Given the description of an element on the screen output the (x, y) to click on. 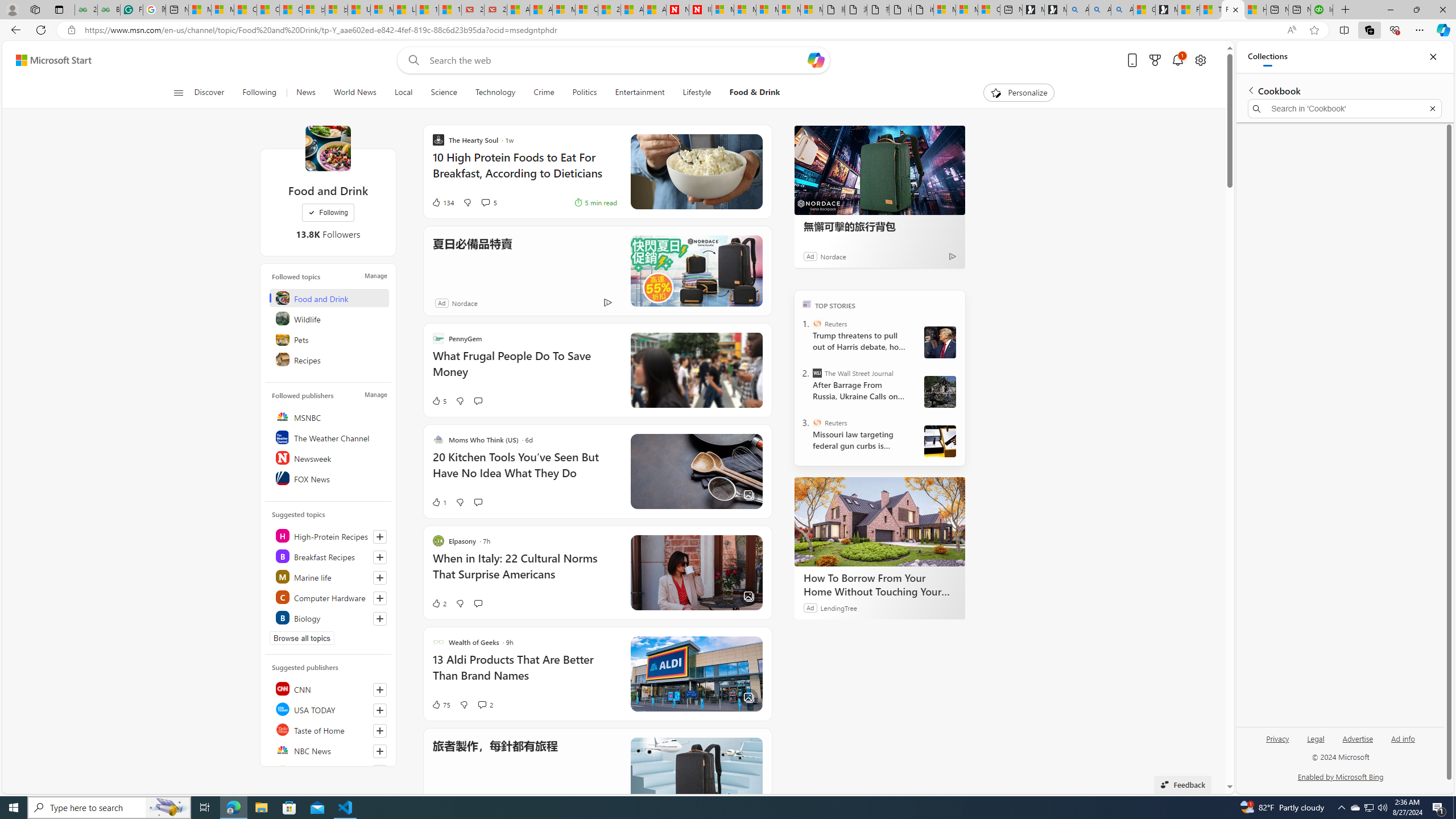
Open Copilot (815, 59)
Food and Drink (327, 148)
Crime (543, 92)
Back (13, 29)
Nordace (464, 302)
Advertise (1358, 742)
How To Borrow From Your Home Without Touching Your Mortgage (879, 584)
View comments 2 Comment (485, 704)
Food & Drink (750, 92)
Dislike (463, 704)
5 Like (438, 400)
Food & Drink (754, 92)
